Given the description of an element on the screen output the (x, y) to click on. 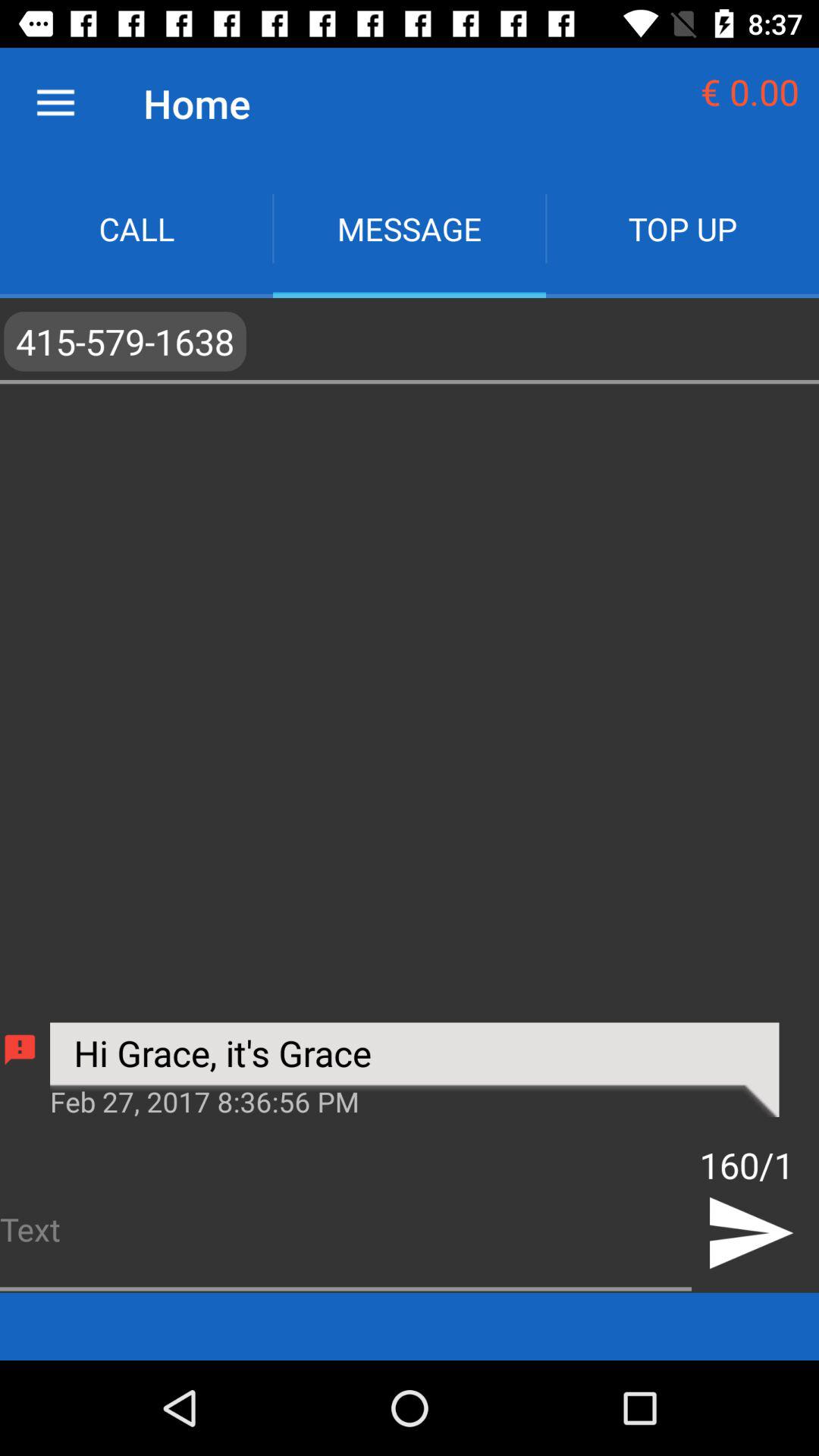
click icon below the ,415-579-1638,  icon (19, 1049)
